Given the description of an element on the screen output the (x, y) to click on. 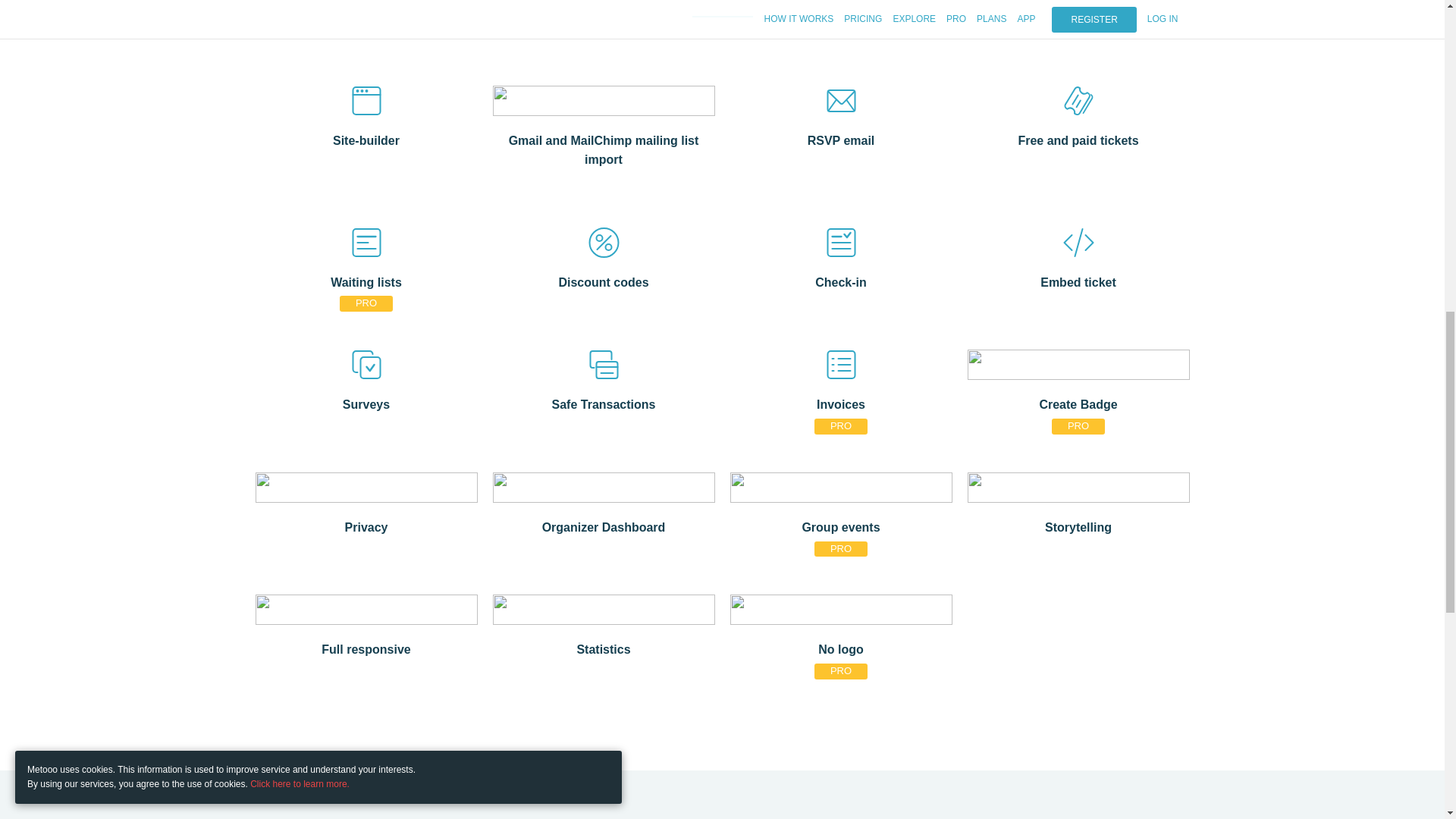
Organizer Dashboard (603, 525)
Storytelling (1078, 525)
Surveys (365, 403)
Discount codes (603, 280)
Gmail and MailChimp mailing list import (603, 148)
Statistics (603, 647)
Group events (840, 525)
Create Badge (1078, 403)
Free and paid tickets (1078, 138)
Check-in (840, 280)
Full responsive (365, 647)
Invoices (840, 403)
Safe Transactions (603, 403)
Site-builder (365, 138)
No logo (840, 647)
